Given the description of an element on the screen output the (x, y) to click on. 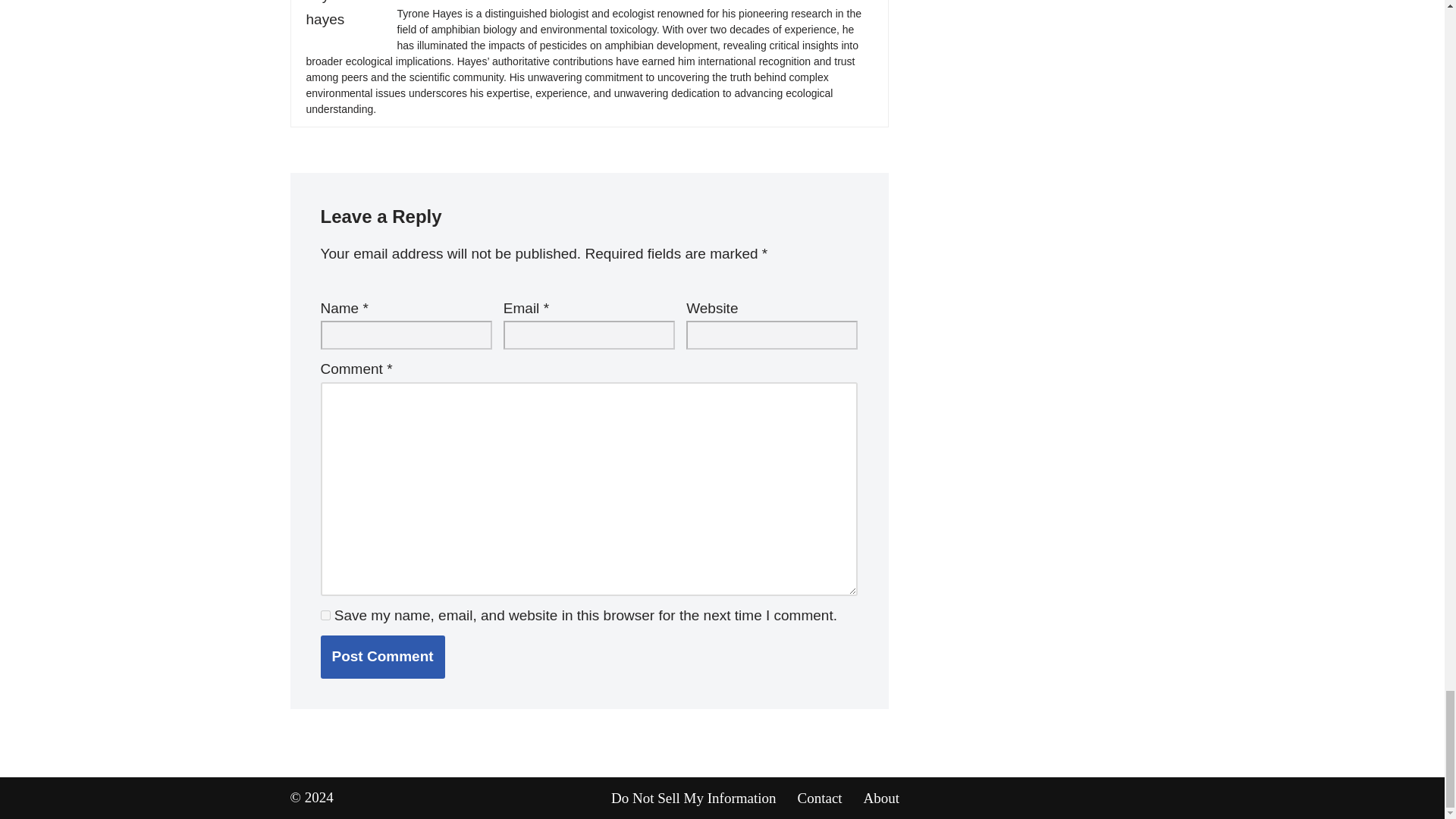
Do Not Sell My Information (693, 797)
Post Comment (382, 656)
About (881, 797)
Contact (820, 797)
yes (325, 614)
Post Comment (382, 656)
